Given the description of an element on the screen output the (x, y) to click on. 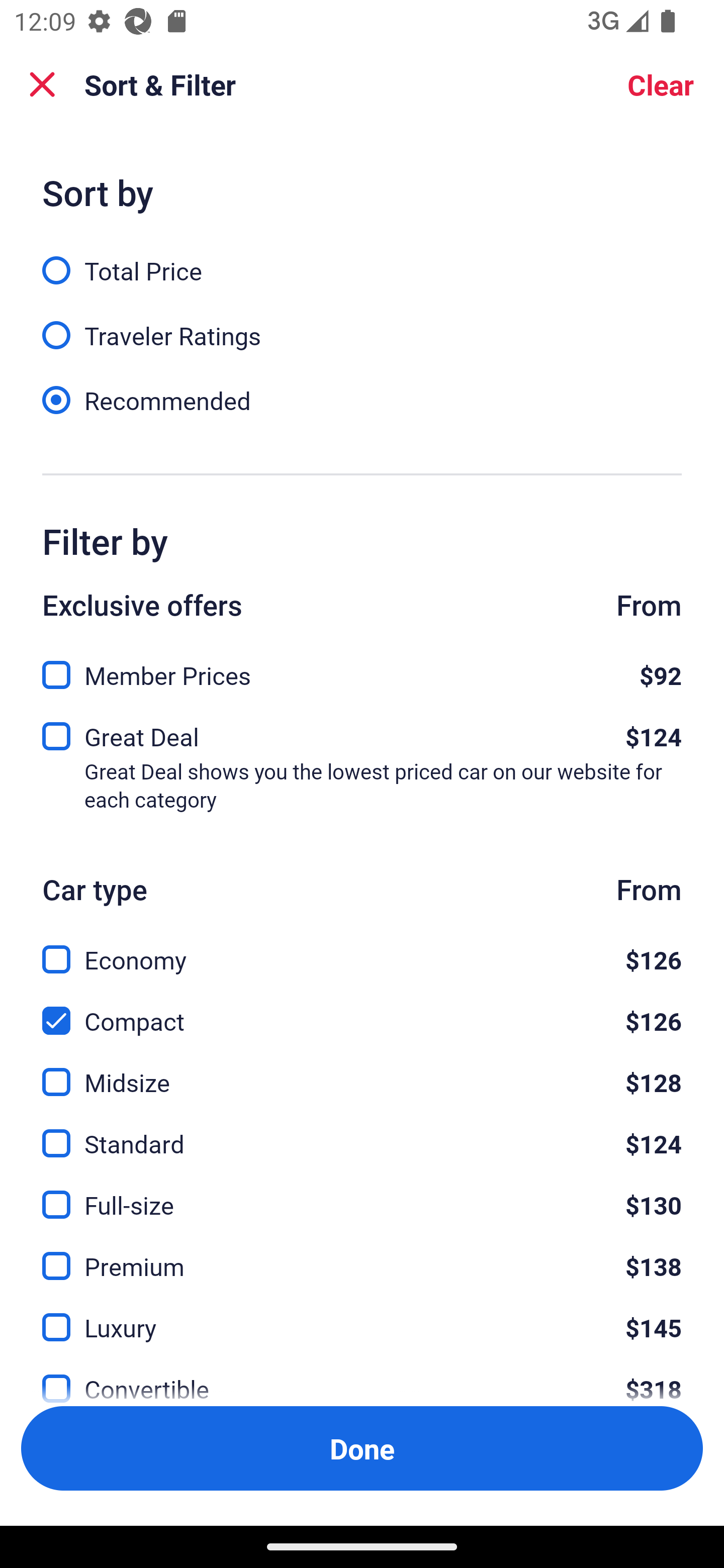
Close Sort and Filter (42, 84)
Clear (660, 84)
Total Price (361, 259)
Traveler Ratings (361, 324)
Member Prices, $92 Member Prices $92 (361, 669)
Economy, $126 Economy $126 (361, 947)
Compact, $126 Compact $126 (361, 1008)
Midsize, $128 Midsize $128 (361, 1070)
Standard, $124 Standard $124 (361, 1132)
Full-size, $130 Full-size $130 (361, 1193)
Premium, $138 Premium $138 (361, 1254)
Luxury, $145 Luxury $145 (361, 1315)
Convertible, $318 Convertible $318 (361, 1376)
Apply and close Sort and Filter Done (361, 1448)
